Given the description of an element on the screen output the (x, y) to click on. 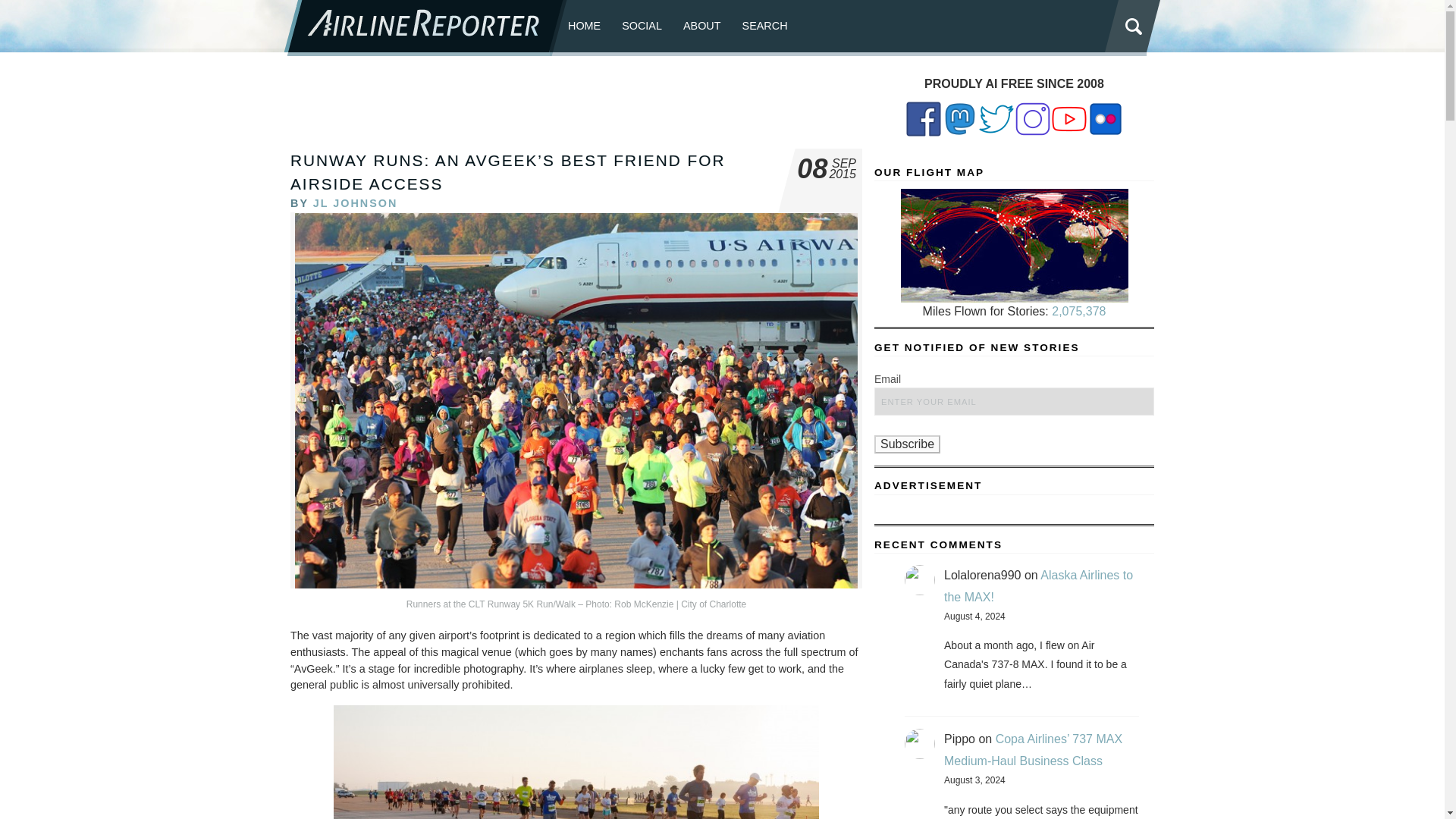
Posts by JL Johnson (355, 203)
JL JOHNSON (355, 203)
Subscribe (907, 443)
AirlineReporter (425, 28)
